Given the description of an element on the screen output the (x, y) to click on. 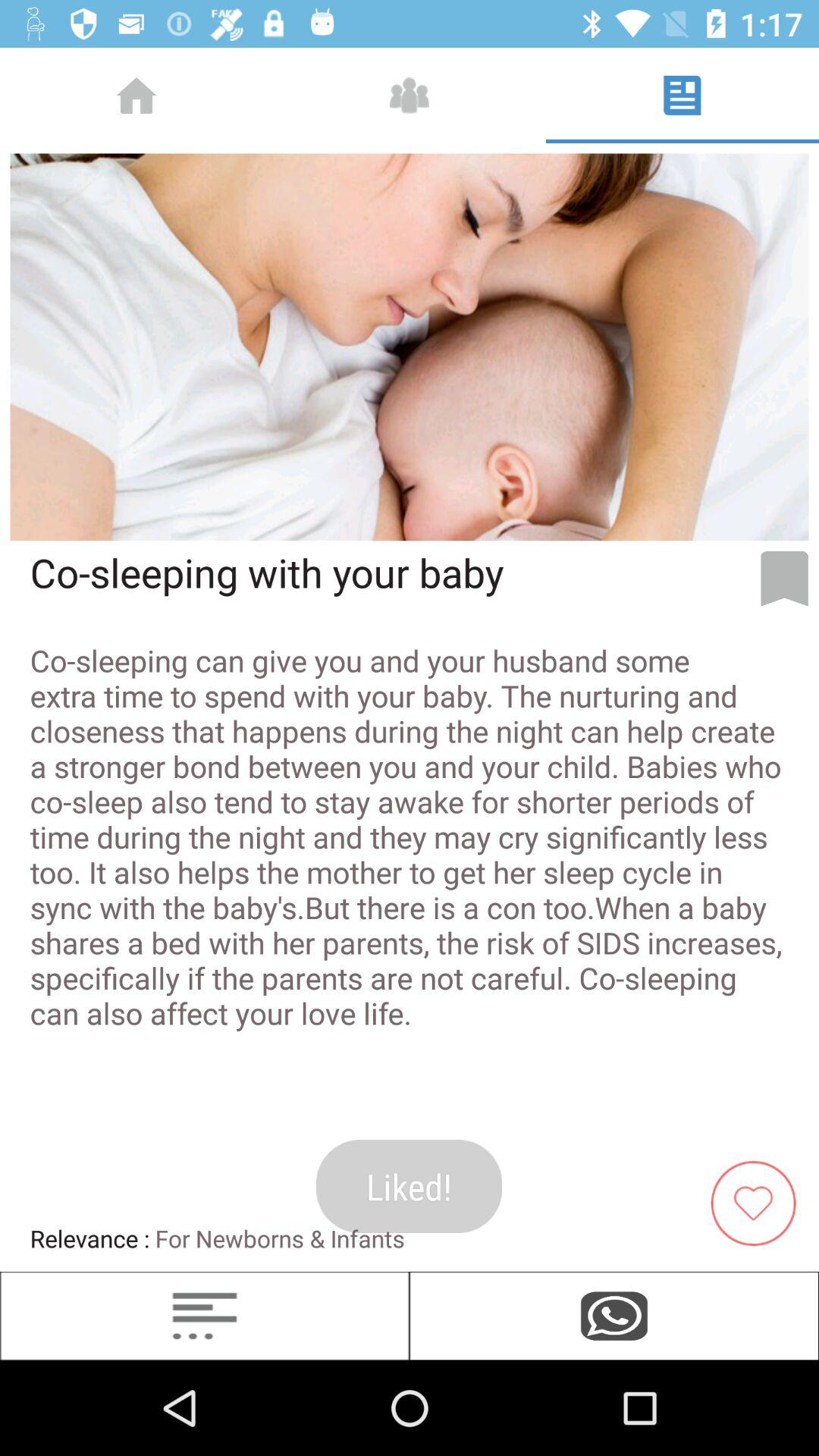
bookmark this article (784, 578)
